Given the description of an element on the screen output the (x, y) to click on. 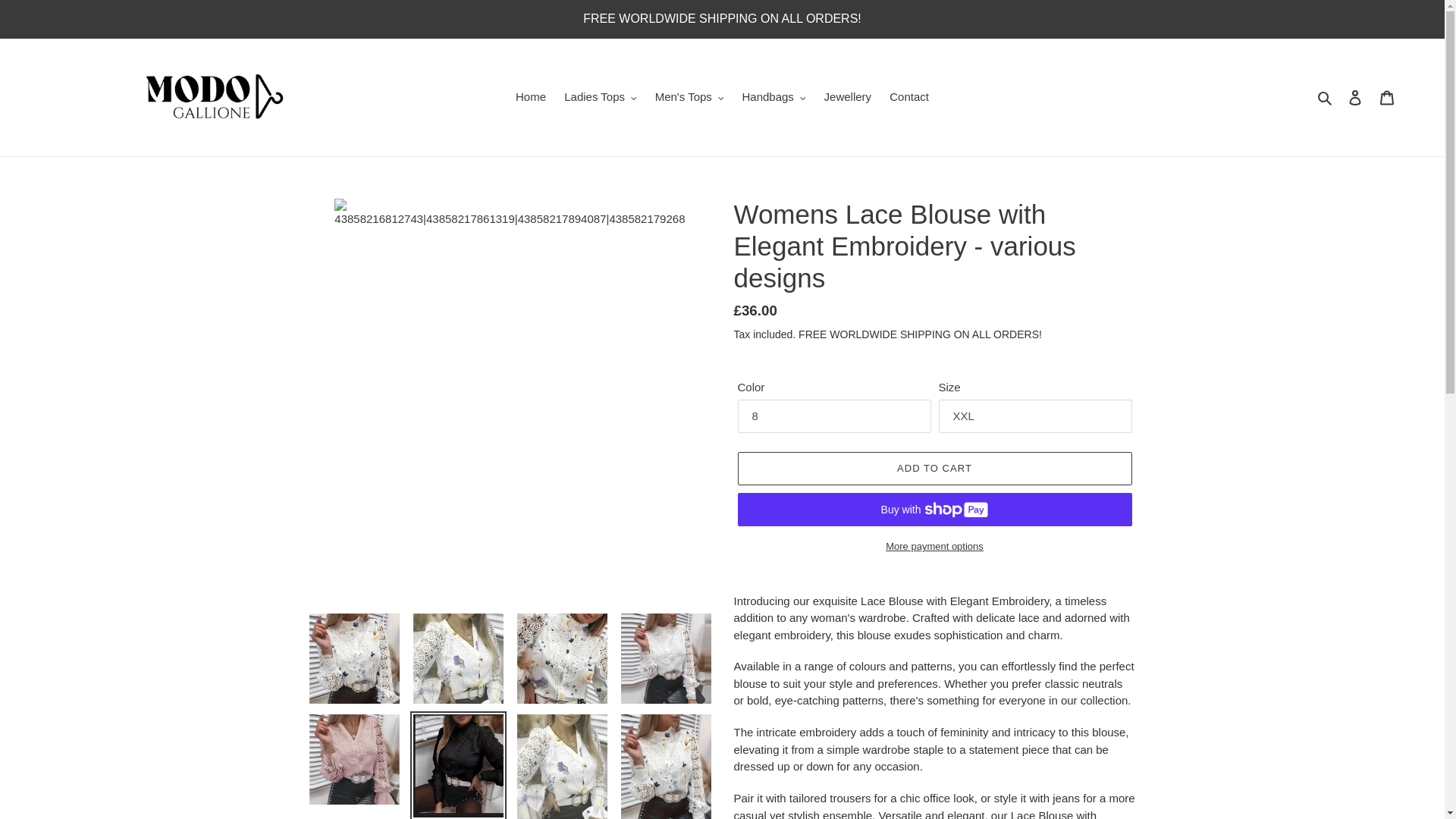
Handbags (772, 97)
Ladies Tops (599, 97)
Contact (909, 97)
Home (530, 97)
Search (1326, 97)
Men's Tops (689, 97)
Cart (1387, 97)
Jewellery (847, 97)
Log in (1355, 97)
